Given the description of an element on the screen output the (x, y) to click on. 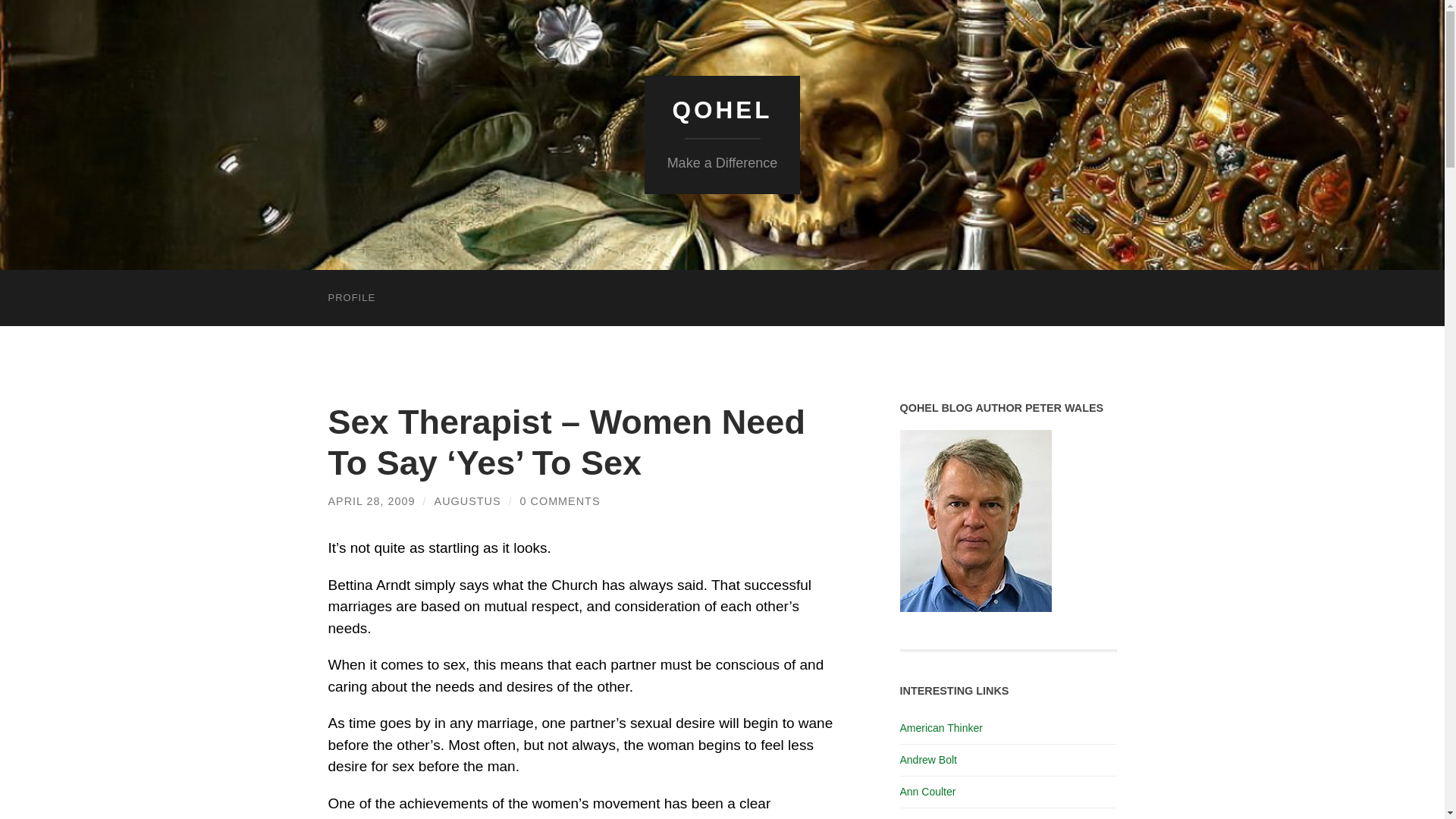
Arts and Letters Daily (950, 818)
QOHEL (721, 109)
Andrew Bolt (927, 759)
0 COMMENTS (559, 500)
American Thinker (940, 727)
Posts by Augustus (466, 500)
APRIL 28, 2009 (370, 500)
AUGUSTUS (466, 500)
Ann Coulter (927, 791)
PROFILE (351, 297)
